Given the description of an element on the screen output the (x, y) to click on. 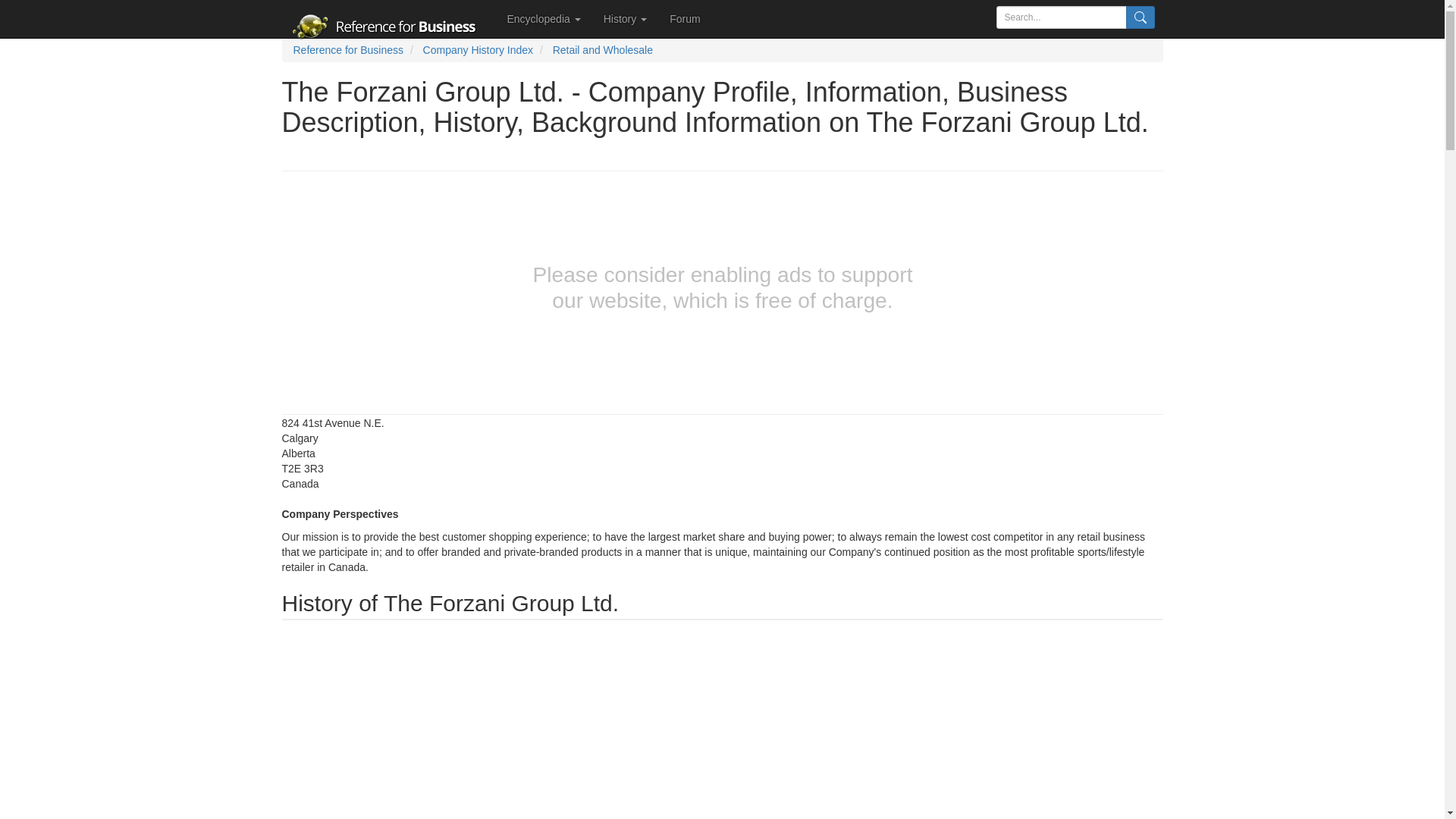
Company History Index (478, 50)
Reference for Business (347, 50)
Encyclopedia (544, 18)
Retail and Wholesale (602, 50)
History (625, 18)
Forum (684, 18)
